Given the description of an element on the screen output the (x, y) to click on. 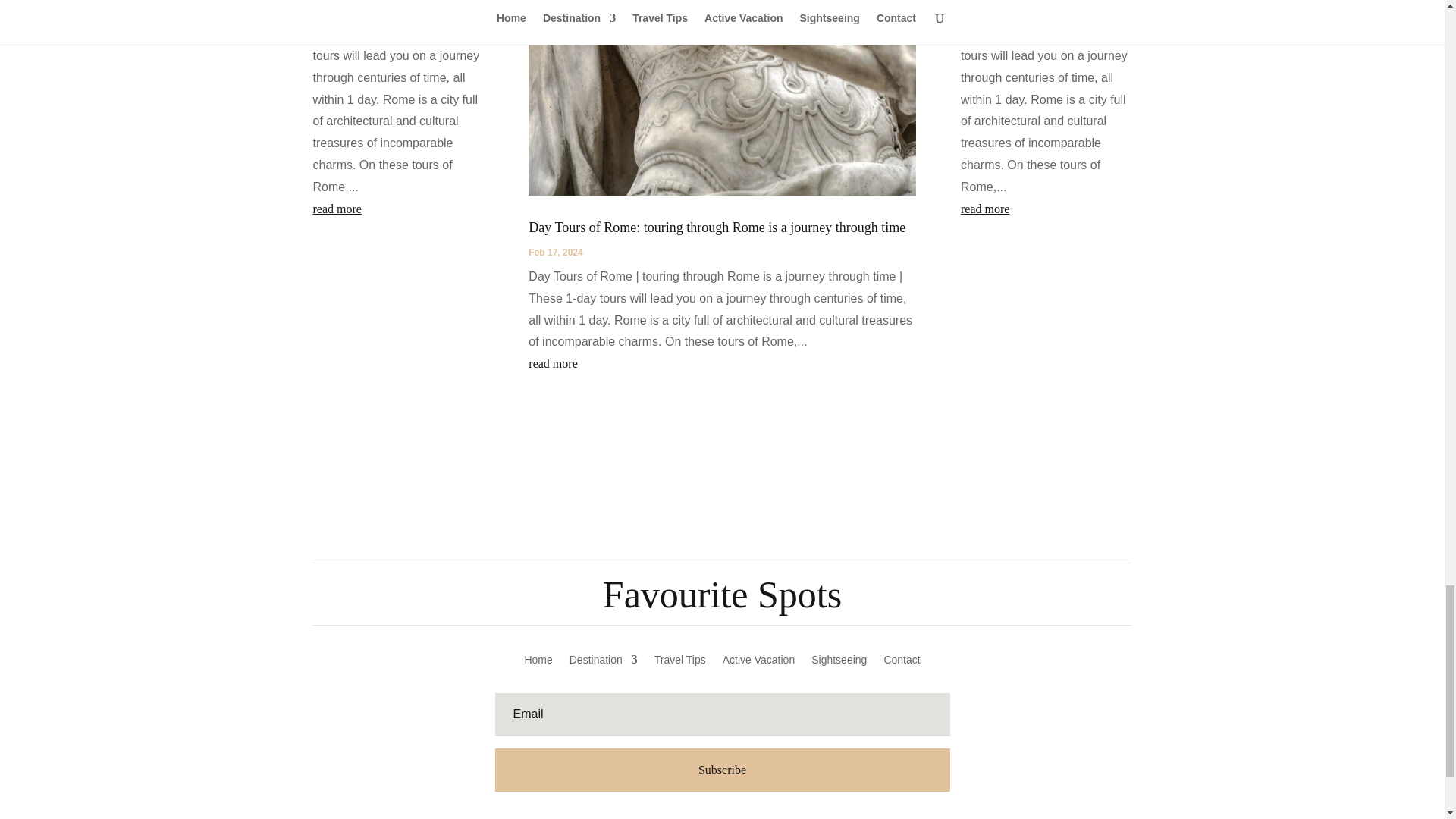
Follow on X (706, 816)
Follow on Facebook (675, 816)
Follow on Instagram (766, 816)
Follow on Pinterest (737, 816)
